Given the description of an element on the screen output the (x, y) to click on. 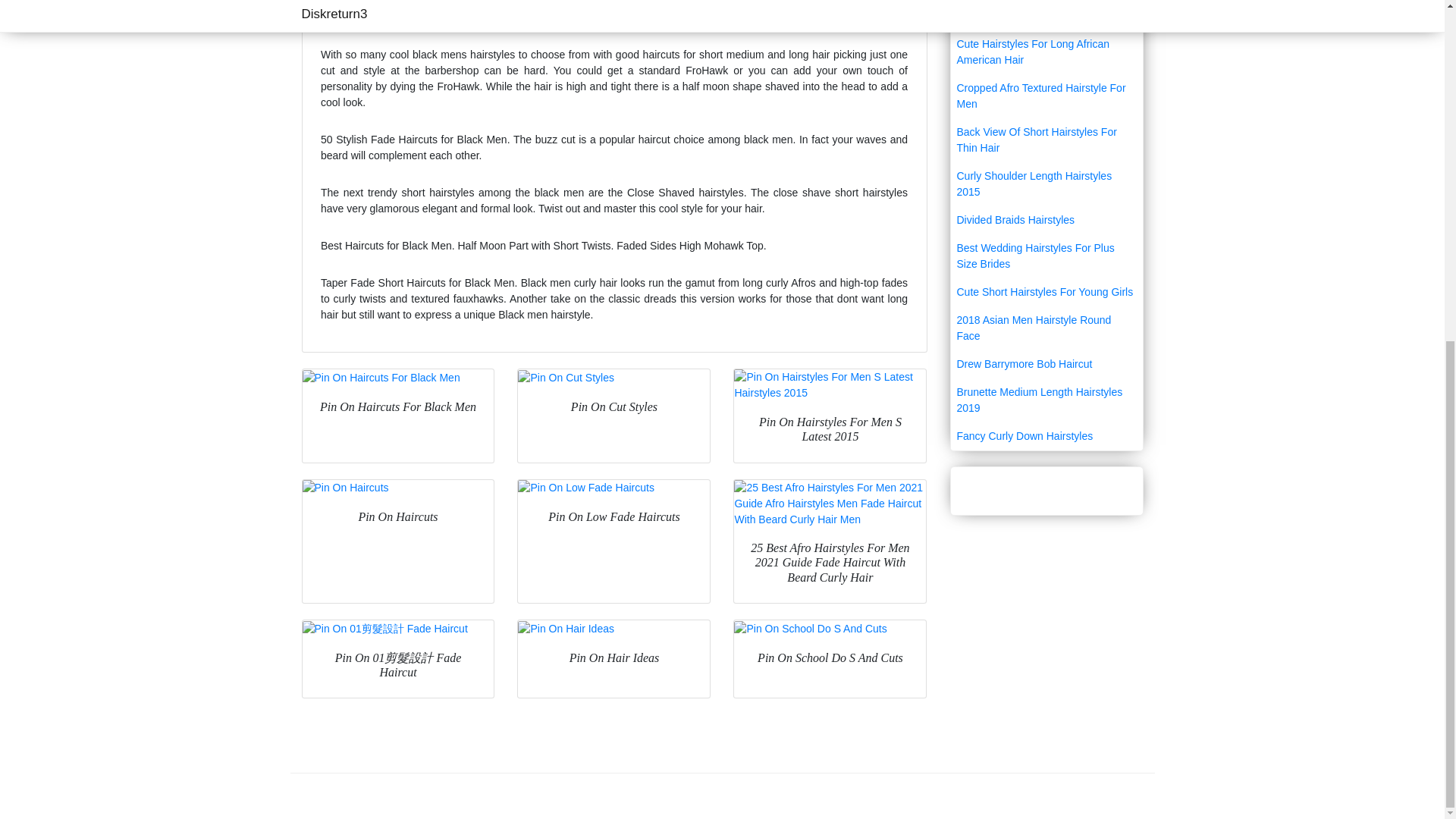
Deep Side Part Quick Weave Bob (1046, 16)
Cute Hairstyles For Long African American Hair (1046, 52)
Edgy Haircuts For Long Hair (1046, 1)
Back View Of Short Hairstyles For Thin Hair (1046, 139)
Cropped Afro Textured Hairstyle For Men (1046, 95)
Curly Shoulder Length Hairstyles 2015 (1046, 184)
Divided Braids Hairstyles (1046, 220)
